Given the description of an element on the screen output the (x, y) to click on. 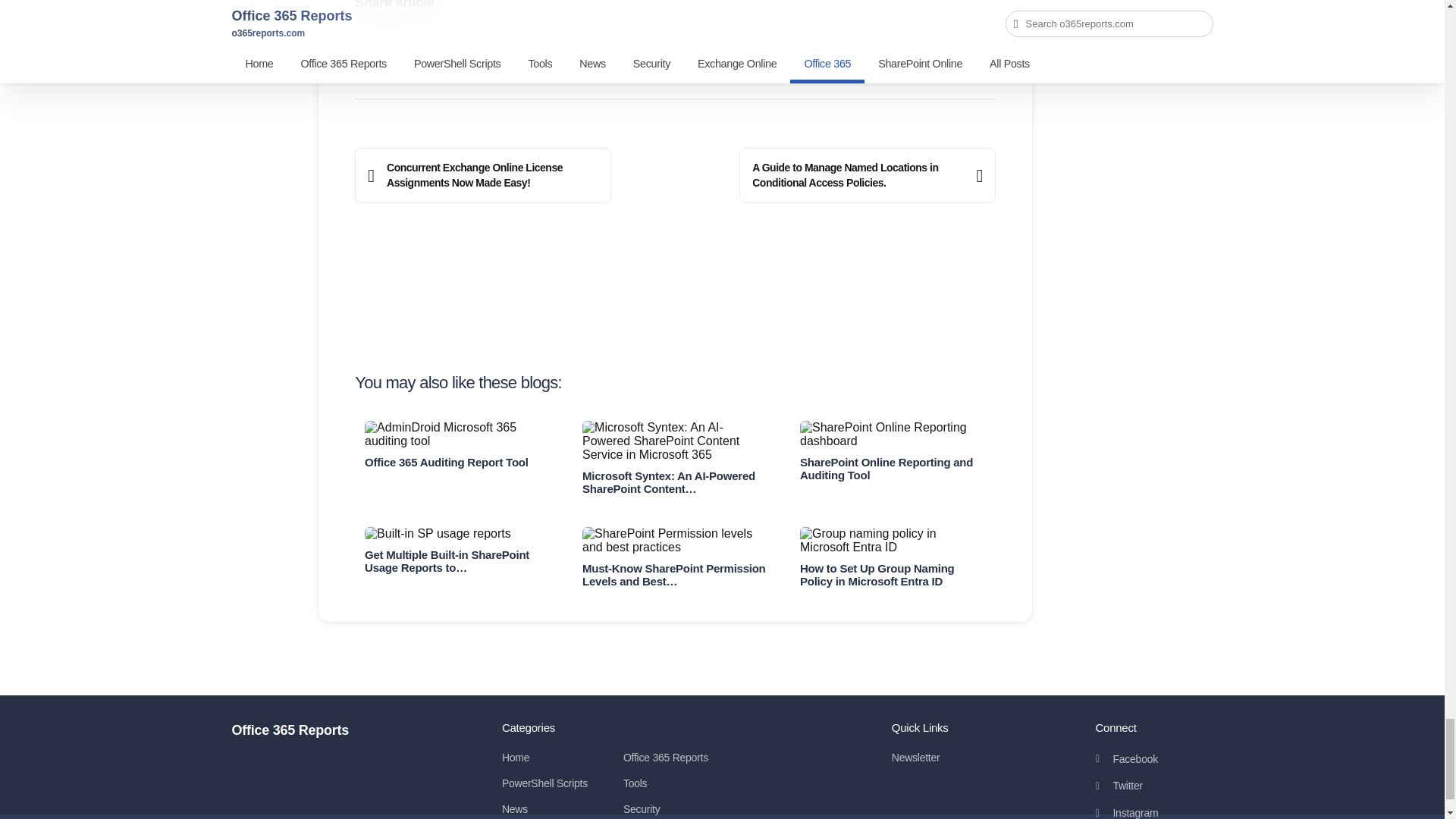
Office 365 Auditing Report Tool (457, 433)
How to Set Up Group Naming Policy in Microsoft Entra ID (892, 540)
